Given the description of an element on the screen output the (x, y) to click on. 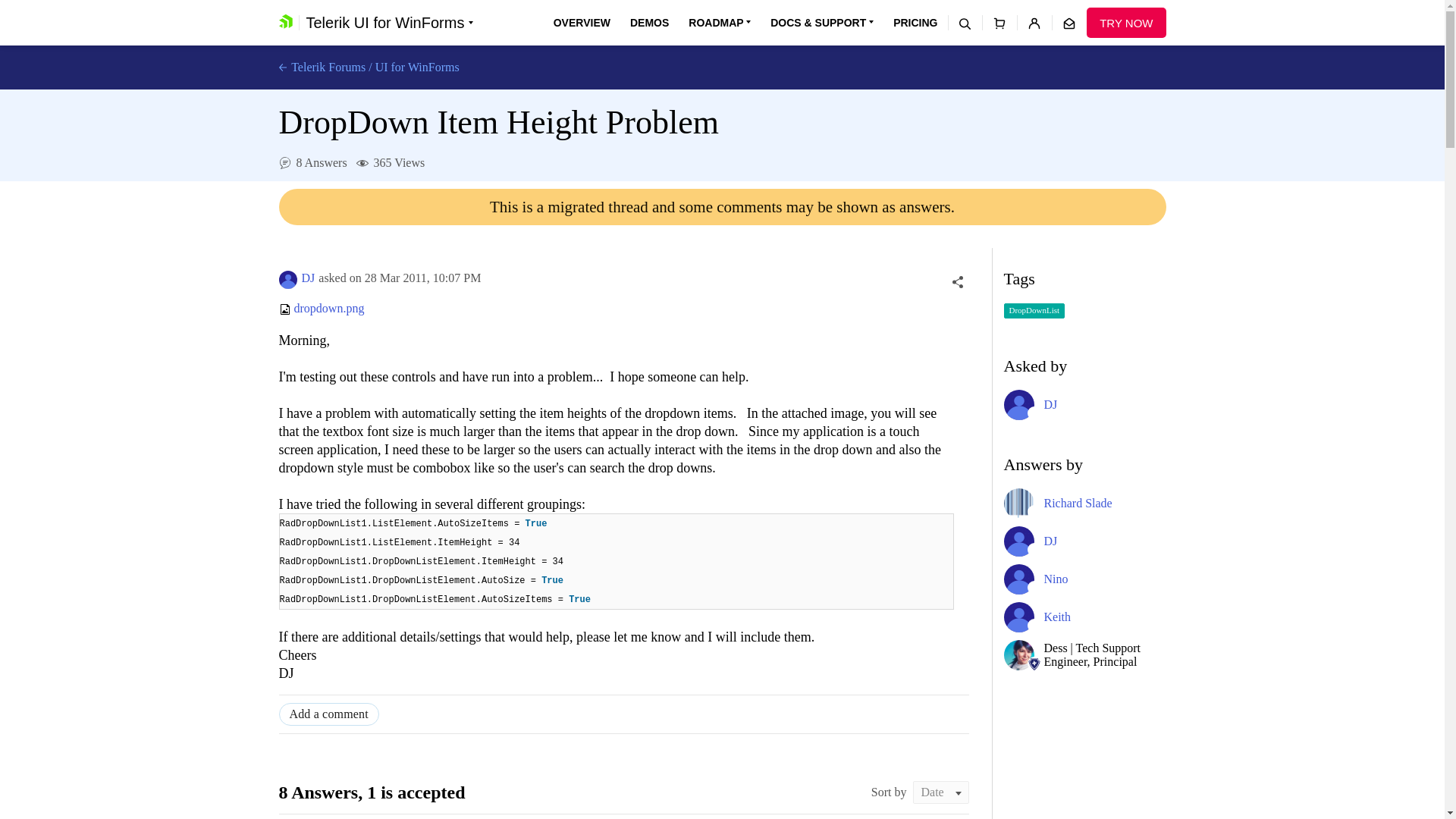
ROADMAP (719, 22)
SKIP NAVIGATION (339, 7)
Telerik UI for WinForms (389, 22)
OVERVIEW (581, 22)
